Given the description of an element on the screen output the (x, y) to click on. 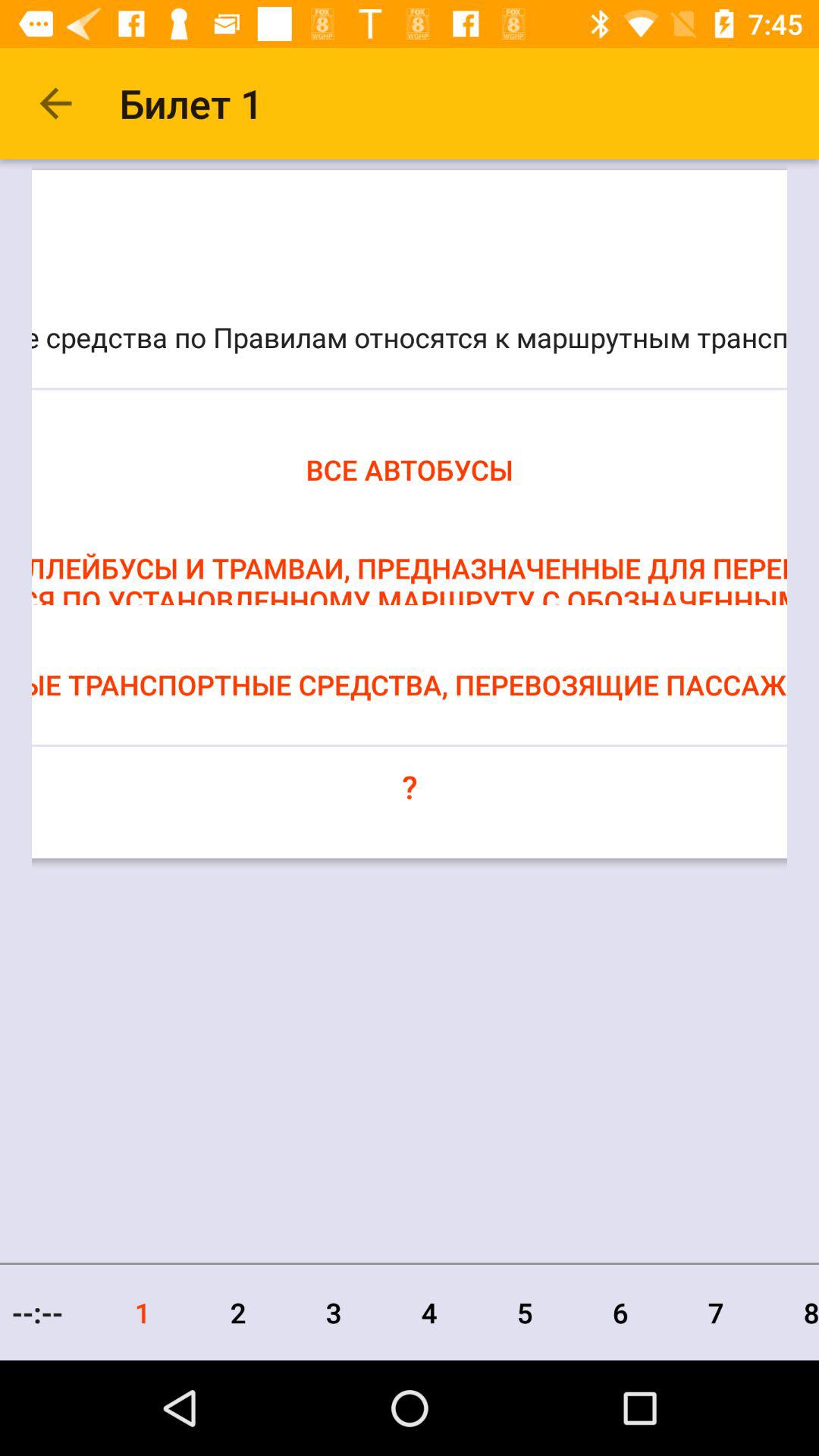
jump to 6 icon (620, 1312)
